Given the description of an element on the screen output the (x, y) to click on. 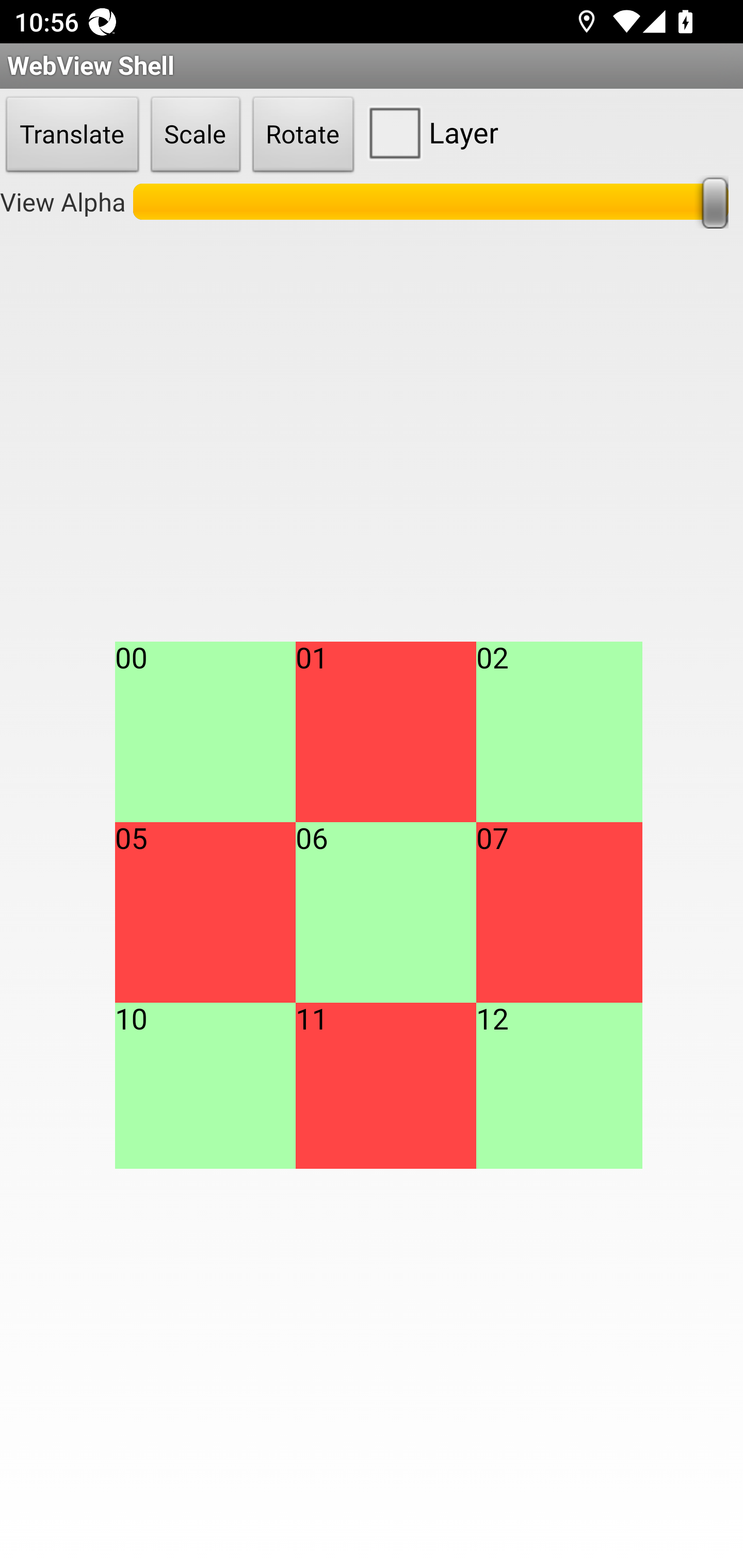
Layer (429, 132)
Translate (72, 135)
Scale (195, 135)
Rotate (303, 135)
